Given the description of an element on the screen output the (x, y) to click on. 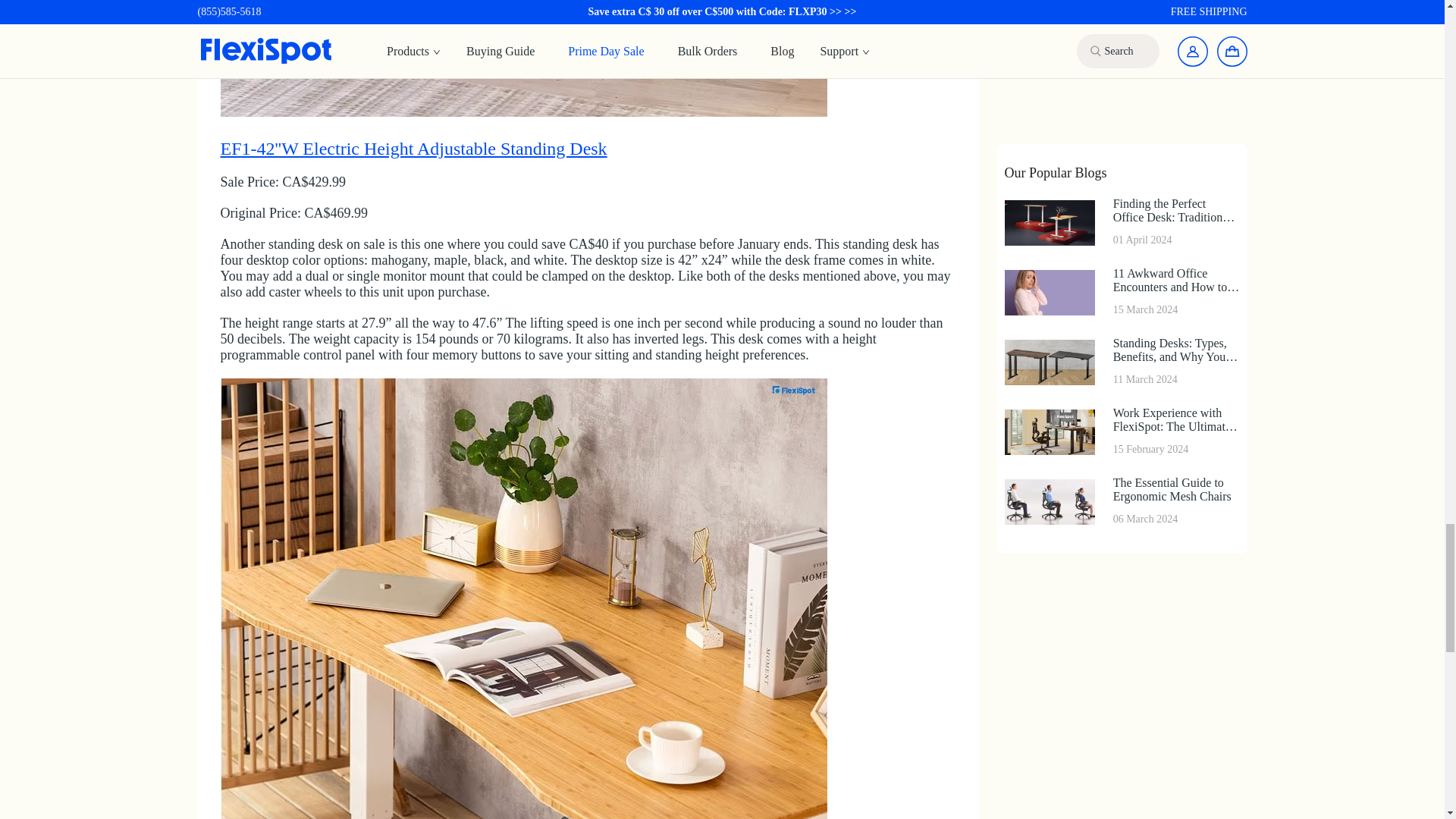
EF1-42''W Electric Height Adjustable Standing Desk (523, 79)
Kana Bamboo Standing Desk (523, 744)
